Given the description of an element on the screen output the (x, y) to click on. 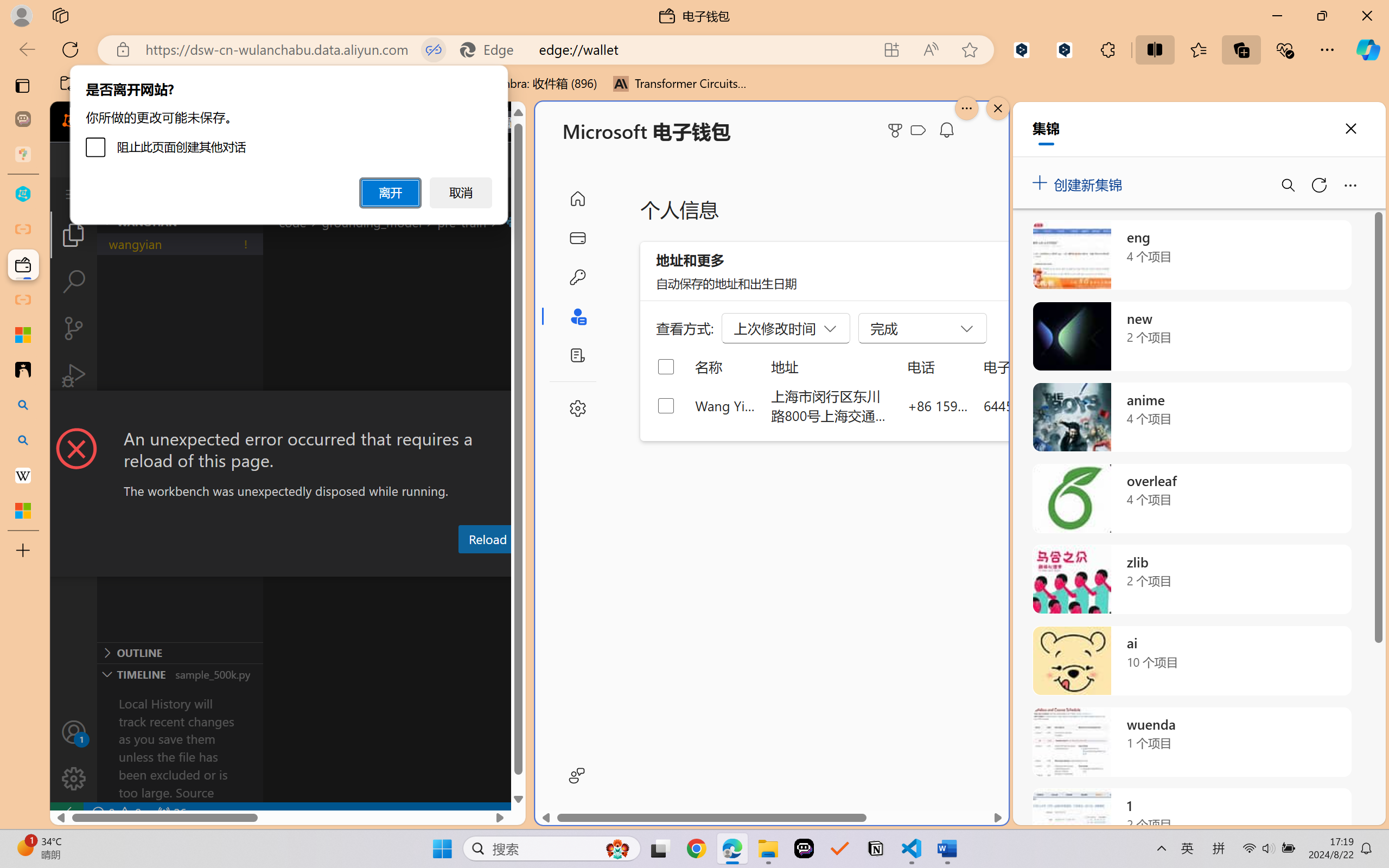
Class: actions-container (287, 410)
remote (66, 812)
Terminal (Ctrl+`) (553, 565)
